Given the description of an element on the screen output the (x, y) to click on. 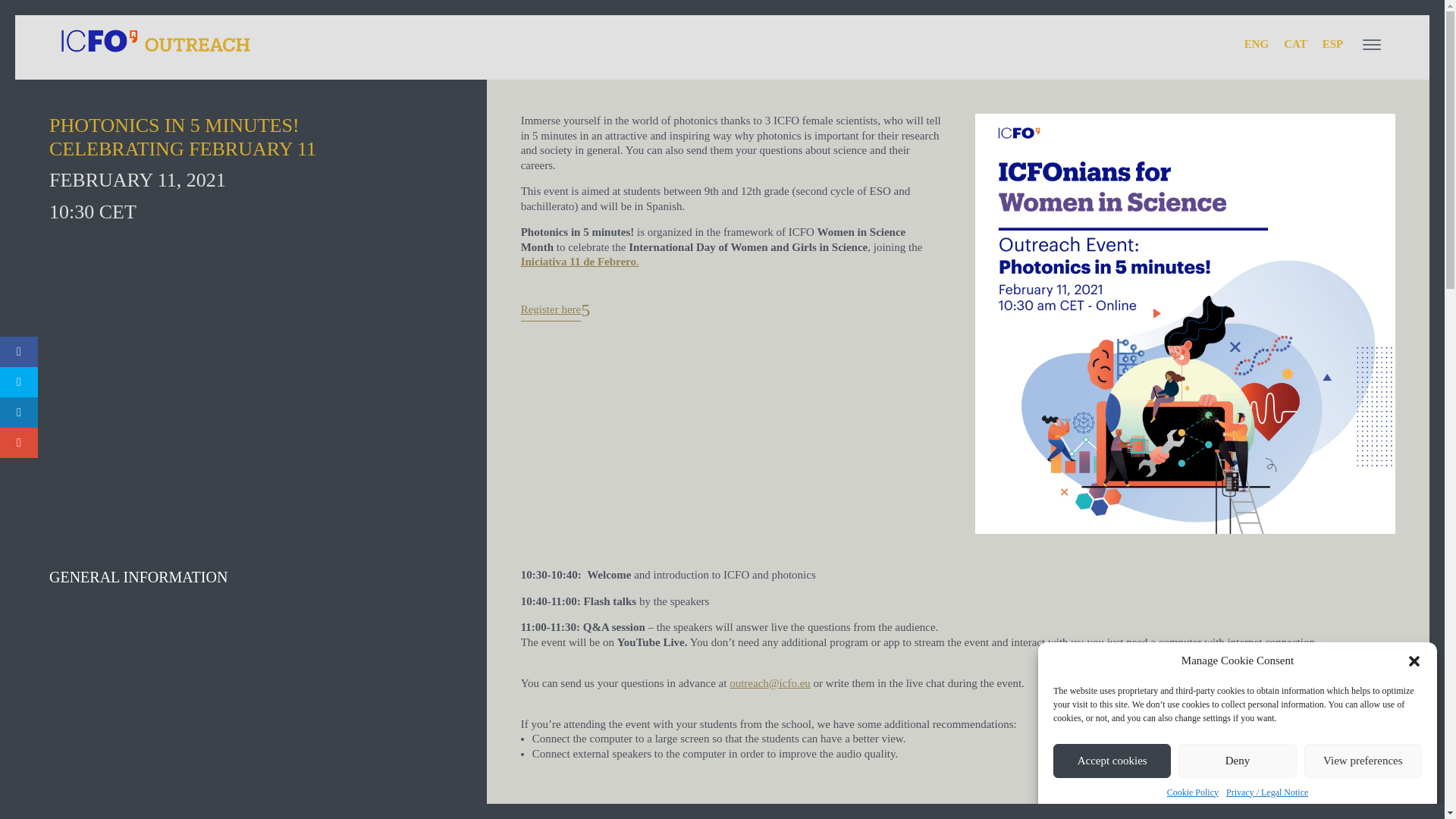
ENG (1256, 44)
ESP (1332, 44)
Register here (550, 311)
Accept cookies (1111, 759)
Iniciativa 11 de Febrero. (580, 261)
Deny (1236, 759)
Cookie Policy (1192, 792)
CAT (1295, 44)
